Given the description of an element on the screen output the (x, y) to click on. 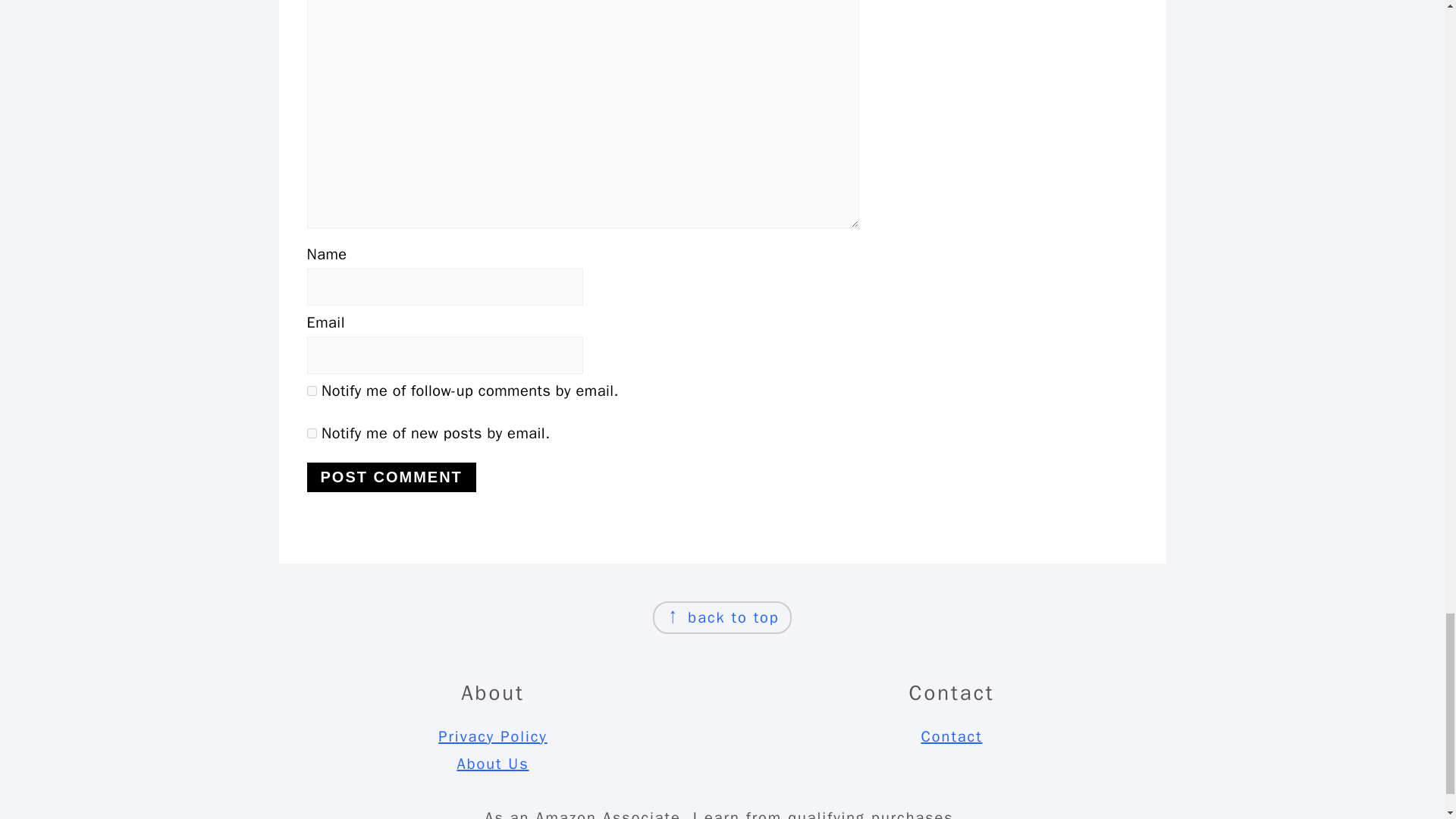
subscribe (310, 433)
Post Comment (390, 477)
subscribe (310, 390)
